Given the description of an element on the screen output the (x, y) to click on. 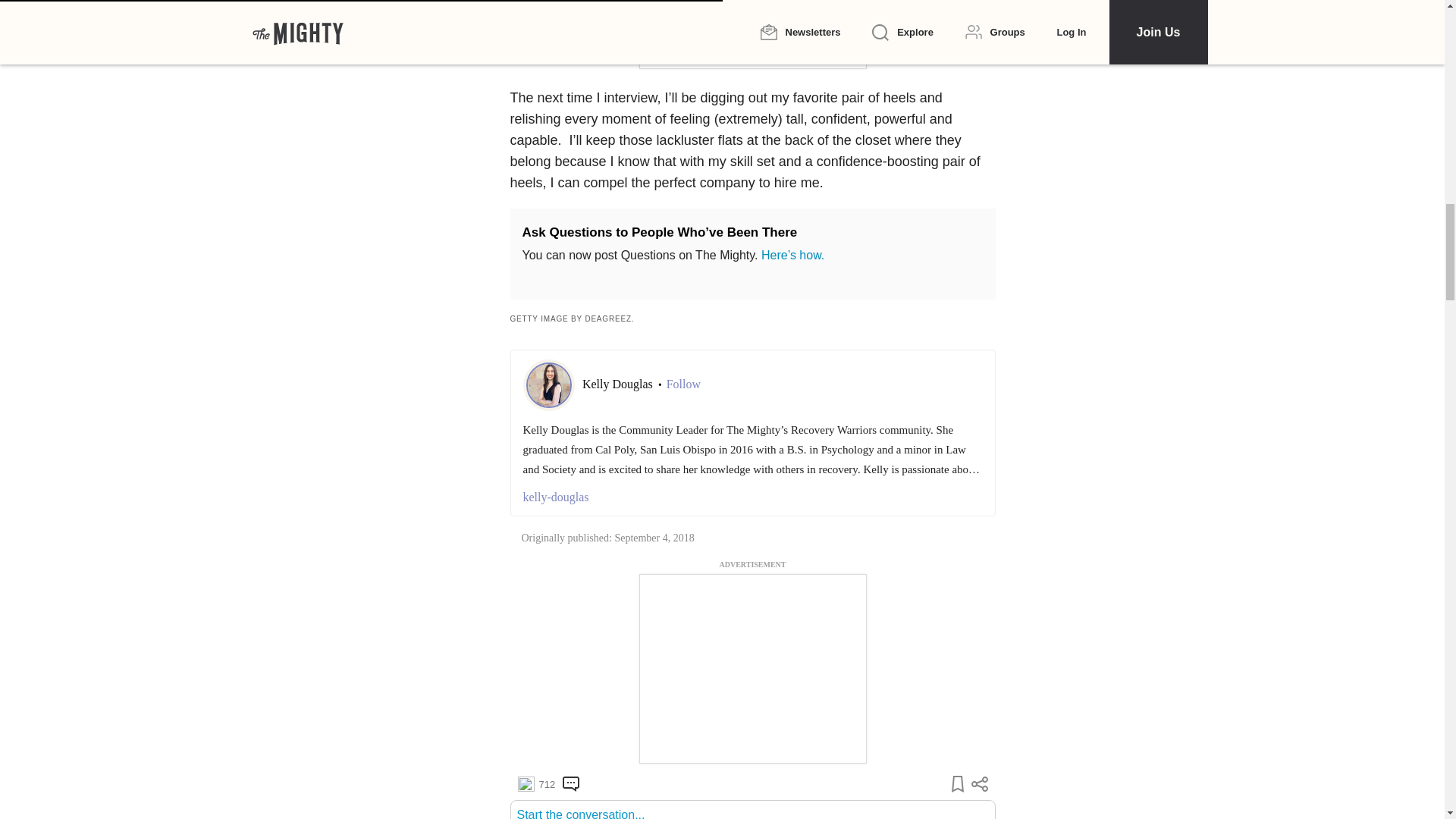
712 (535, 783)
Follow (683, 384)
kelly-douglas (752, 497)
Kelly Douglas (619, 383)
